Given the description of an element on the screen output the (x, y) to click on. 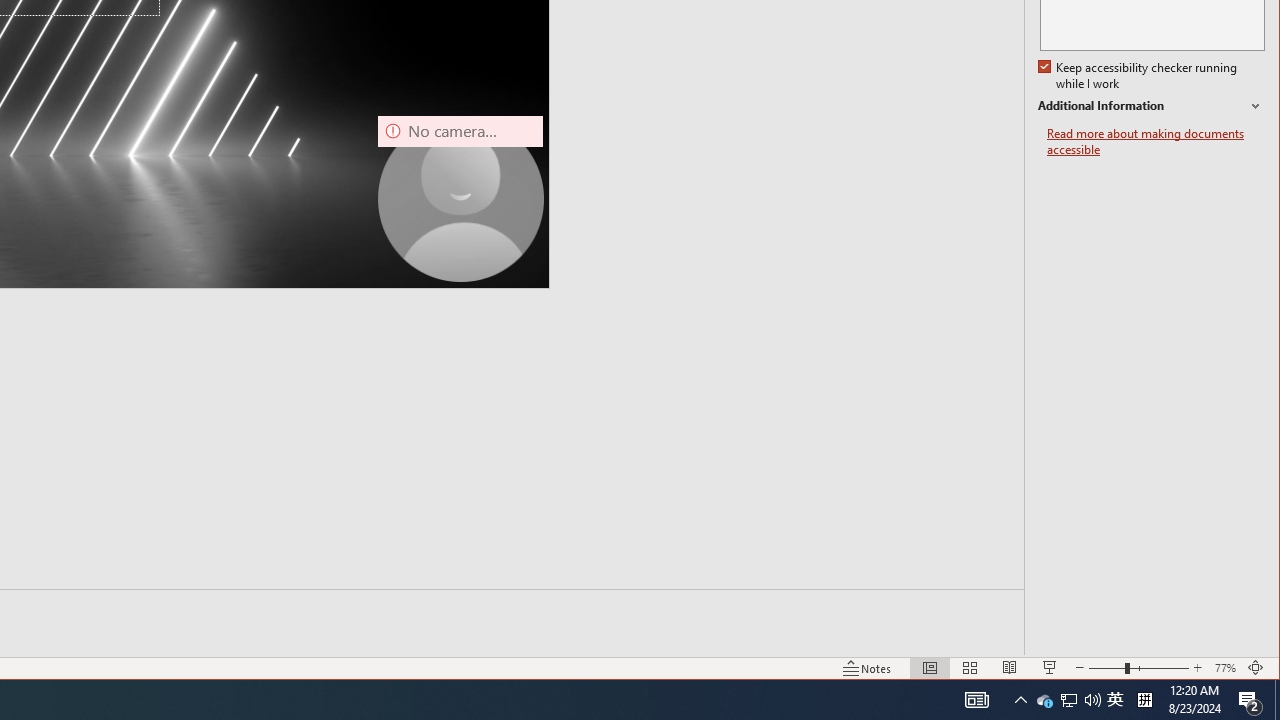
Read more about making documents accessible (1044, 699)
Camera 7, No camera detected. (1155, 142)
